Given the description of an element on the screen output the (x, y) to click on. 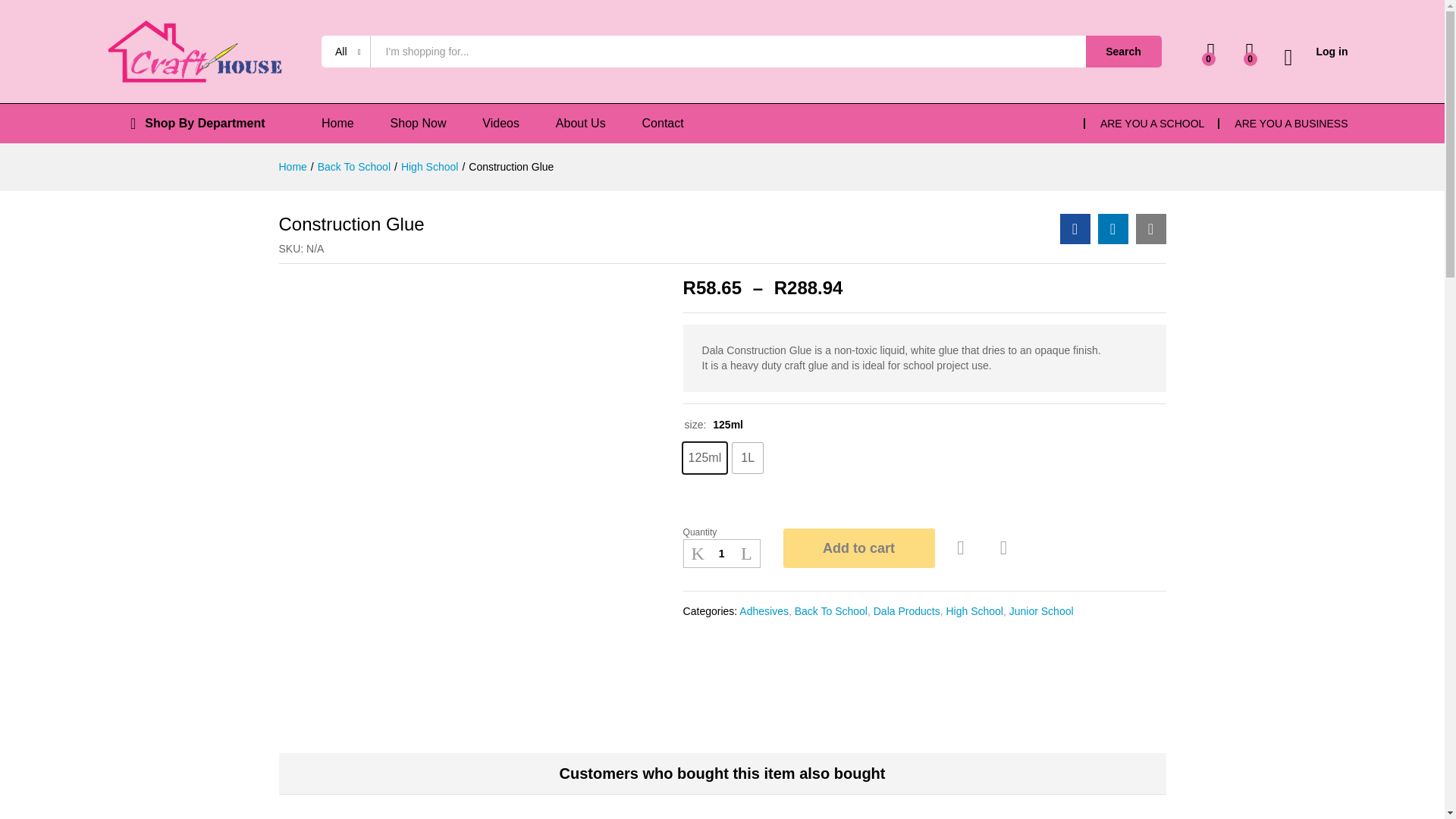
1L (747, 458)
Qty (721, 553)
Compare (1003, 548)
125ml (704, 458)
Construction Glue (1074, 228)
Add to wishlist (962, 548)
Construction Glue (1150, 228)
1 (721, 553)
